Given the description of an element on the screen output the (x, y) to click on. 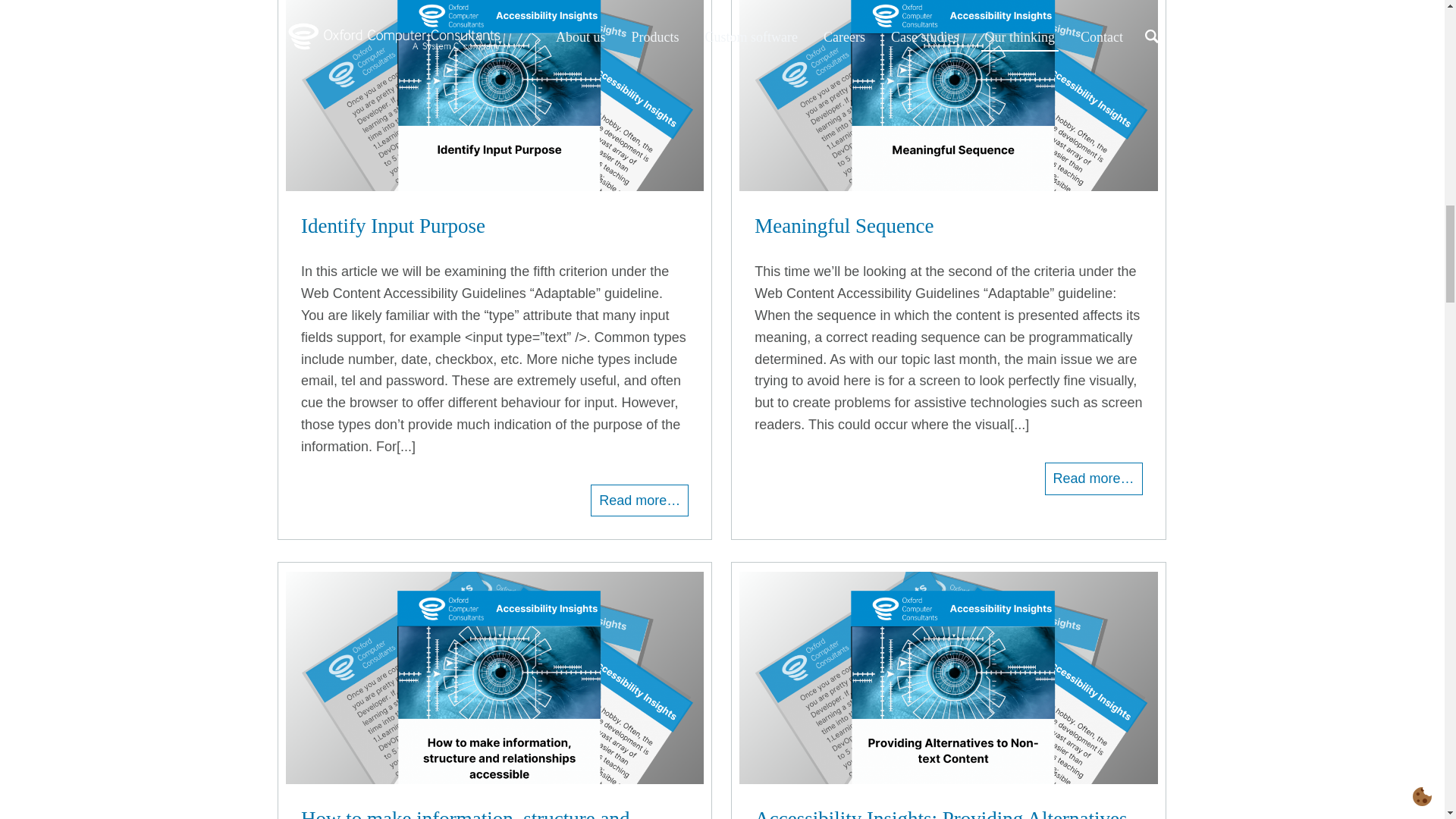
Identify Input Purpose (494, 225)
Meaningful Sequence (947, 225)
